Given the description of an element on the screen output the (x, y) to click on. 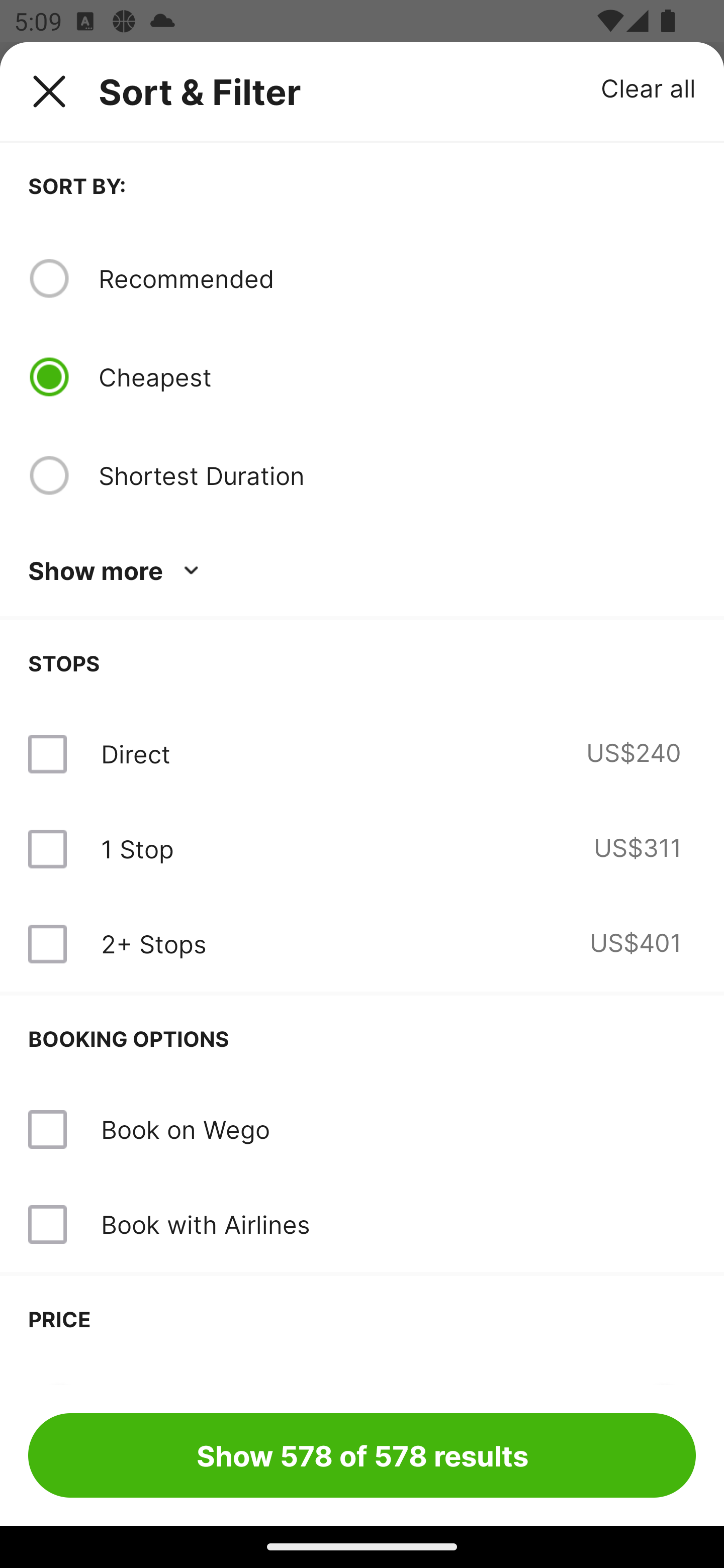
Clear all (648, 87)
Recommended  (396, 278)
Cheapest (396, 377)
Shortest Duration (396, 474)
Show more (116, 570)
Direct US$240 (362, 754)
Direct (135, 753)
1 Stop US$311 (362, 848)
1 Stop (136, 849)
2+ Stops US$401 (362, 943)
2+ Stops (153, 943)
Book on Wego (362, 1129)
Book on Wego (184, 1128)
Book with Airlines (362, 1224)
Book with Airlines (204, 1224)
Show 578 of 578 results (361, 1454)
